Given the description of an element on the screen output the (x, y) to click on. 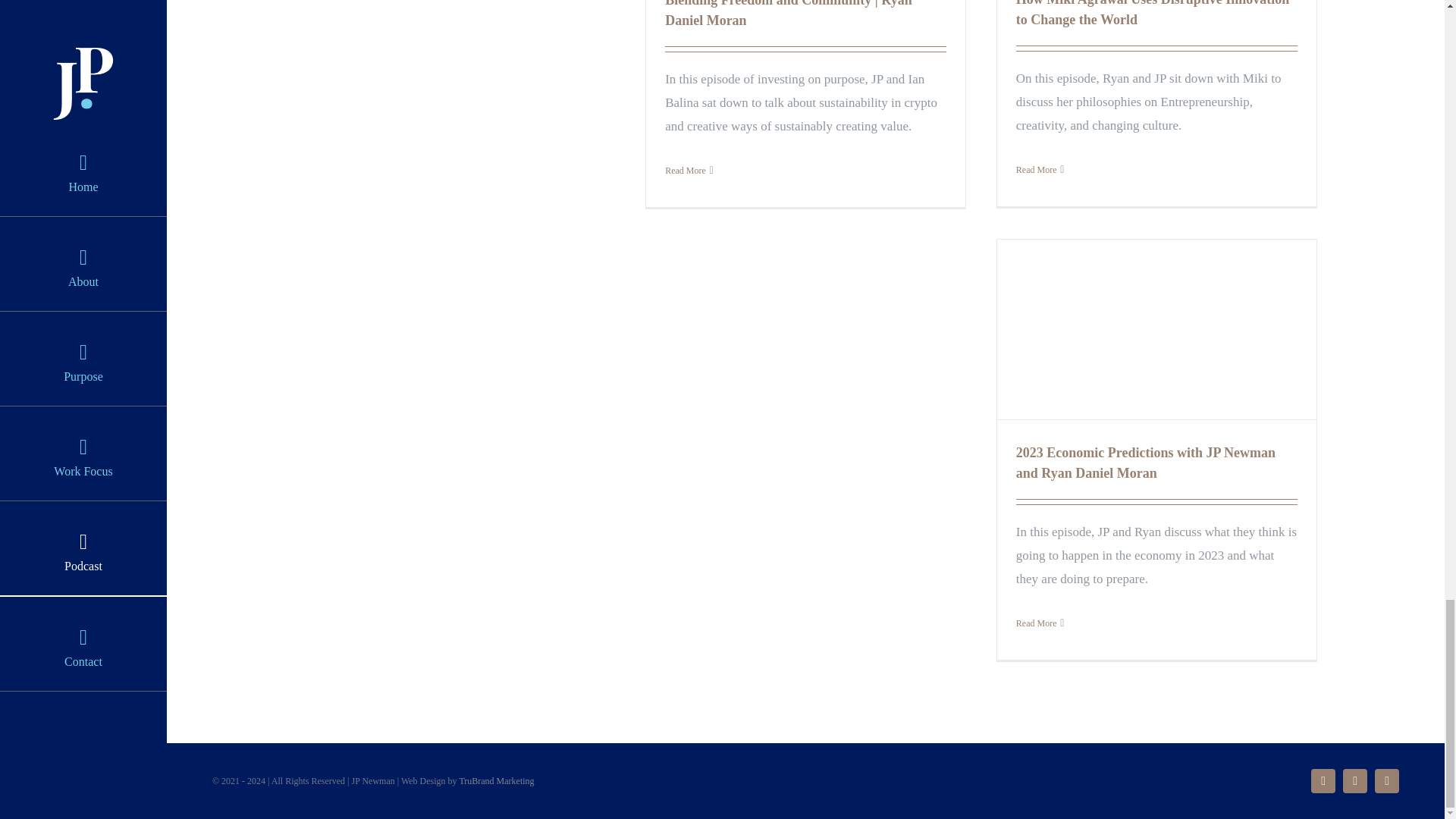
YouTube (1354, 781)
Instagram (1323, 781)
LinkedIn (1386, 781)
